Given the description of an element on the screen output the (x, y) to click on. 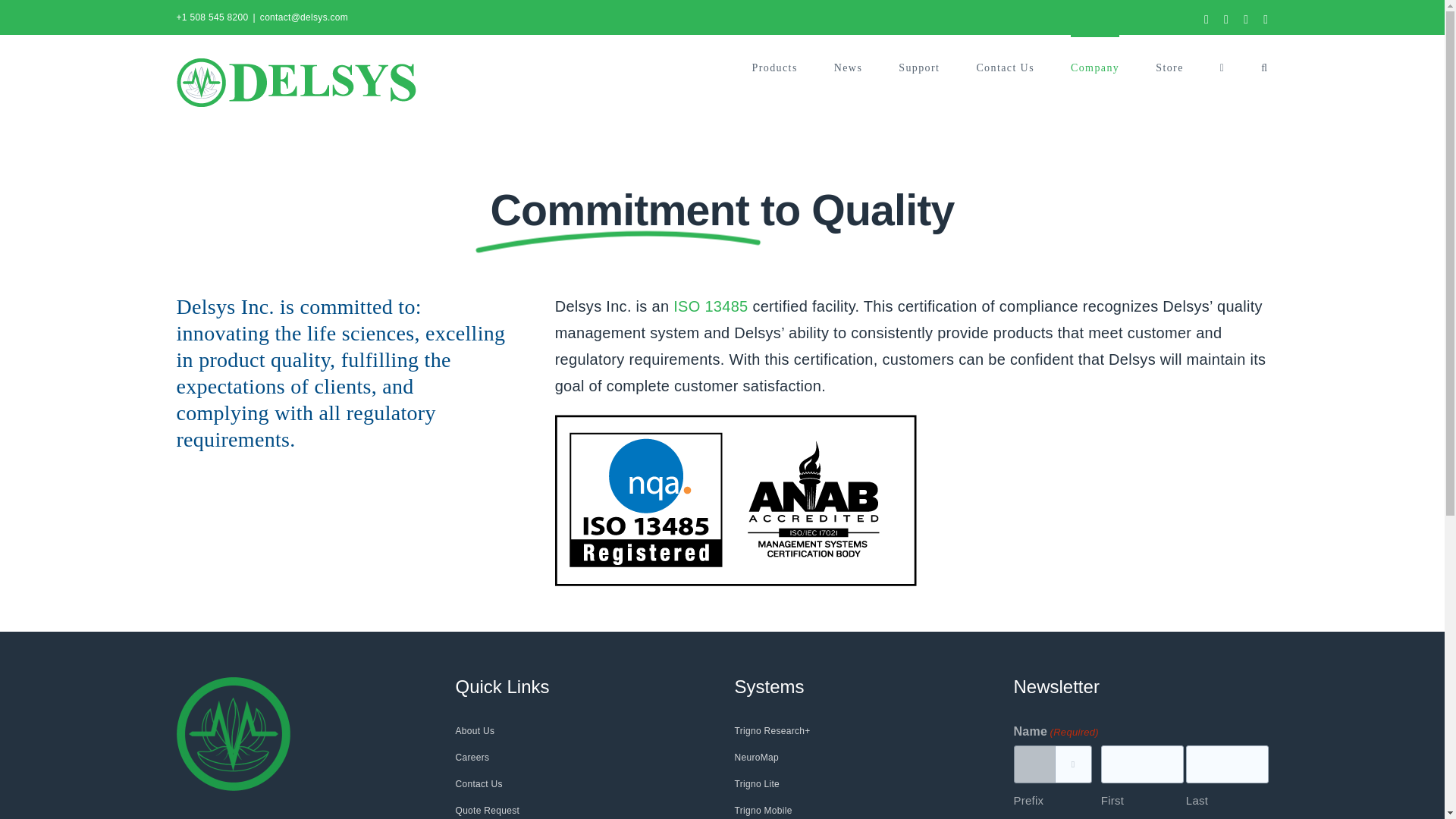
ISO 13485 (735, 500)
